Given the description of an element on the screen output the (x, y) to click on. 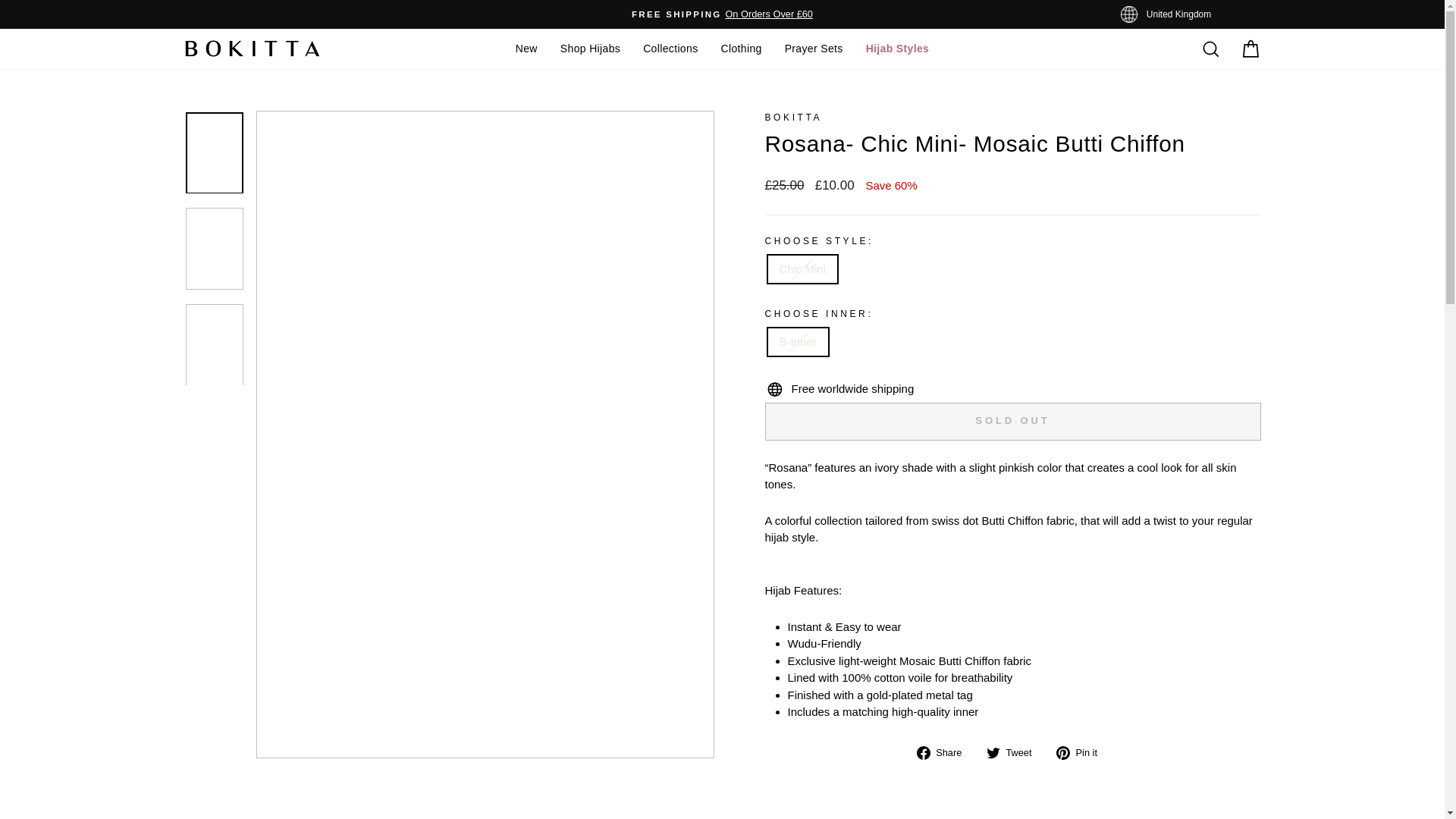
Tweet on Twitter (1014, 752)
BOKITTA (793, 117)
Share on Facebook (944, 752)
Pin on Pinterest (1082, 752)
